Given the description of an element on the screen output the (x, y) to click on. 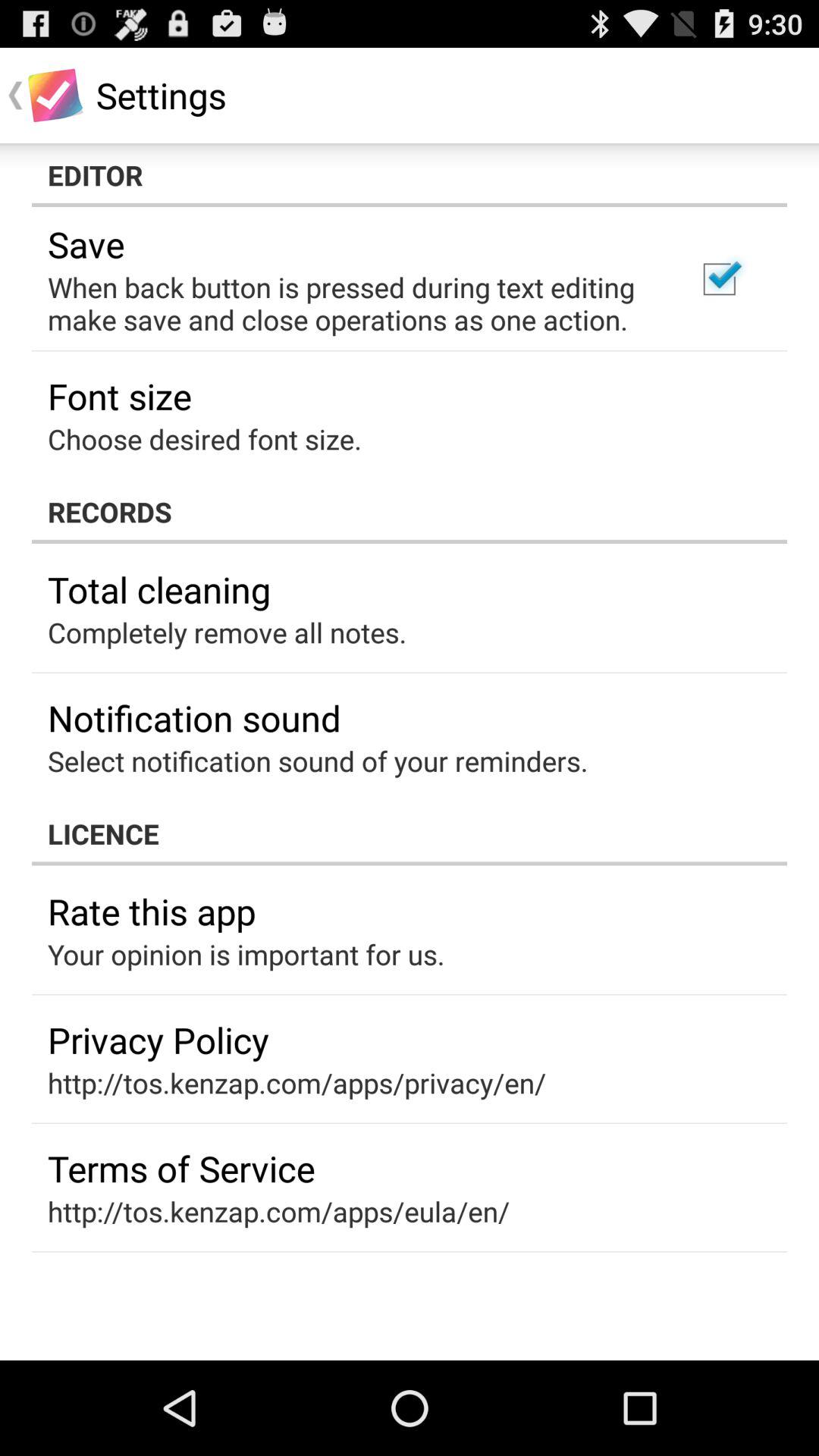
launch icon above the your opinion is (151, 911)
